Given the description of an element on the screen output the (x, y) to click on. 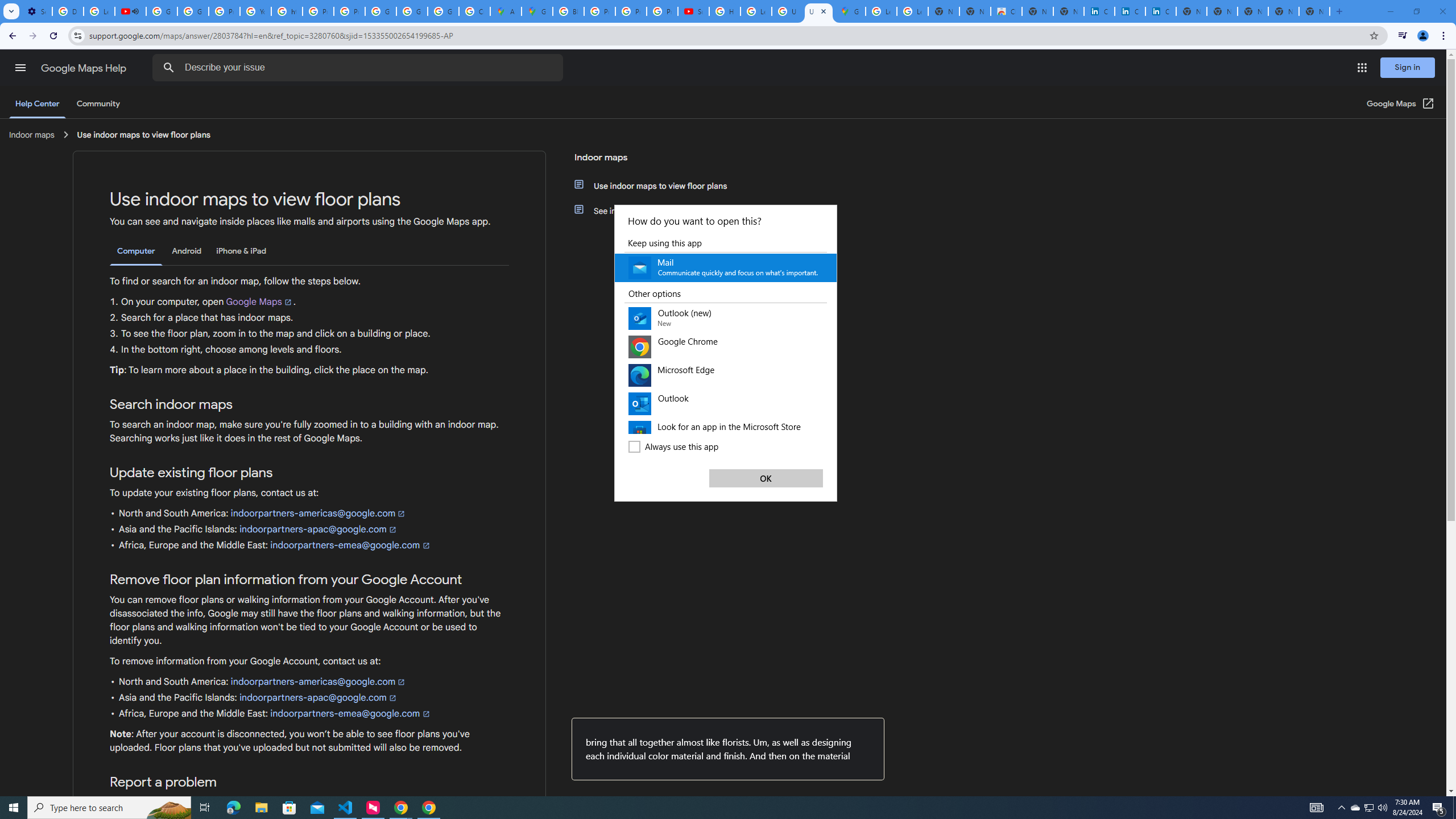
Vertical (832, 335)
Privacy Help Center - Policies Help (223, 11)
Microsoft Edge (233, 807)
Google Maps (849, 11)
Google Chrome (725, 346)
Community (97, 103)
Page down (832, 410)
Use indoor maps to view floor plans (661, 185)
